Given the description of an element on the screen output the (x, y) to click on. 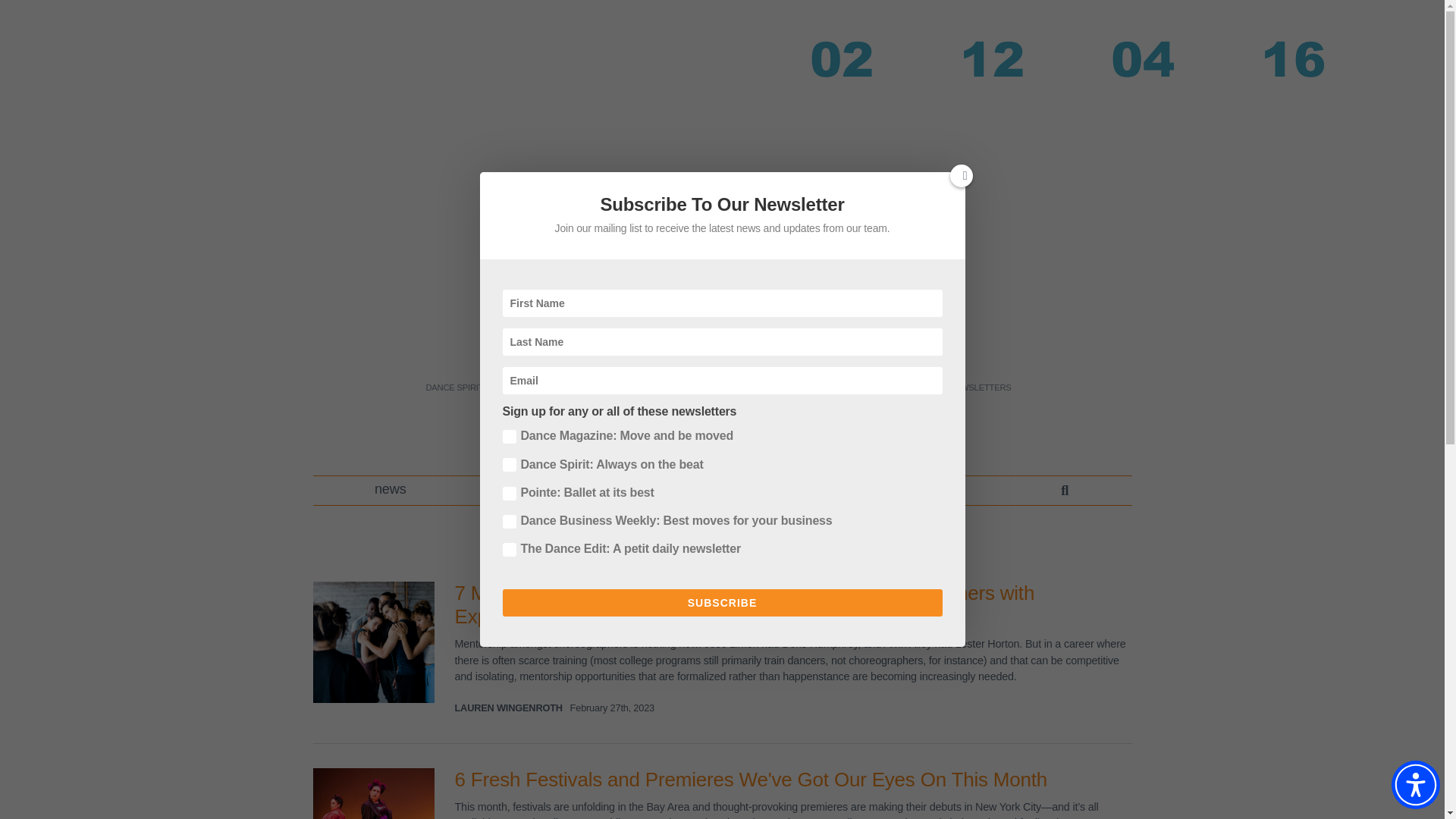
NEWSLETTERS (980, 387)
COLLEGE GUIDE (897, 387)
subscribe (934, 490)
career (522, 490)
POINTE MAGAZINE (625, 387)
guides (658, 490)
Accessibility Menu (1415, 784)
Posts by Lauren Wingenroth (508, 707)
EVENTS CALENDAR (807, 387)
THE DANCE EDIT (715, 387)
more (791, 490)
DANCE TEACHER (535, 387)
news (390, 490)
